Given the description of an element on the screen output the (x, y) to click on. 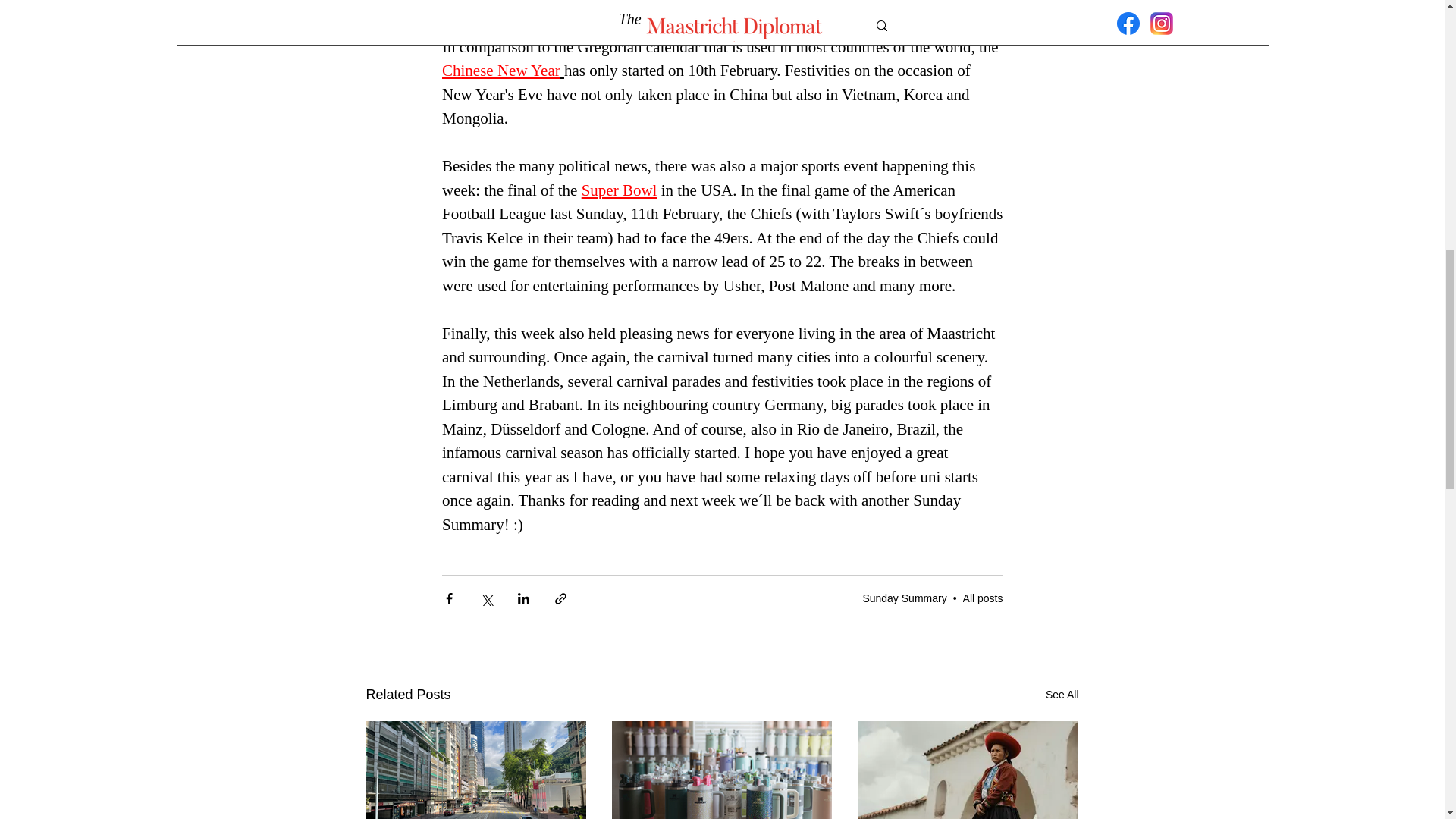
Sunday Summary (903, 597)
See All (1061, 694)
Super Bowl (618, 189)
Chinese New Year (500, 70)
All posts (982, 597)
